Given the description of an element on the screen output the (x, y) to click on. 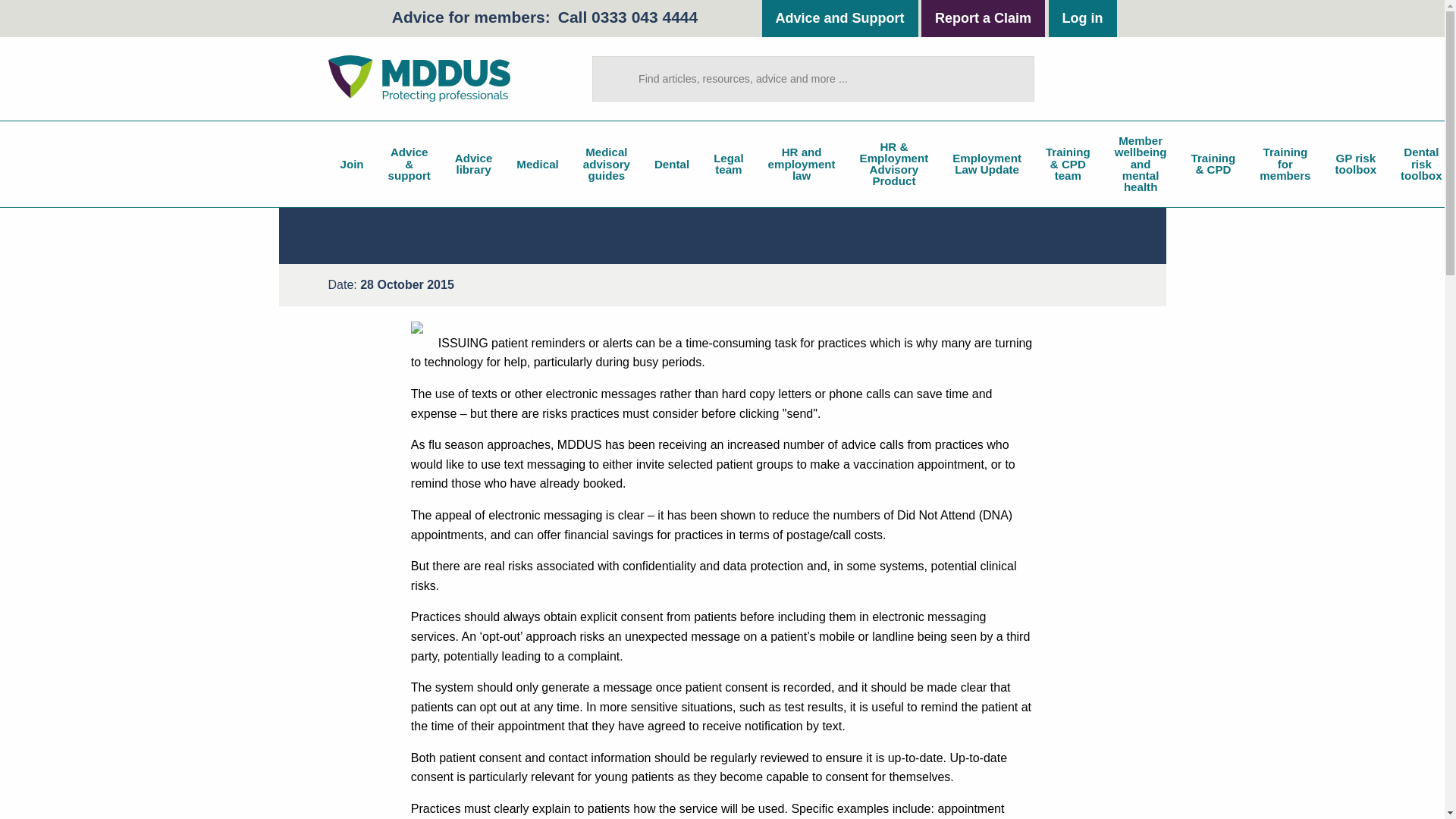
Advice for members:Call 0333 043 4444 (544, 17)
Member wellbeing and mental health (1140, 164)
Log in (1082, 18)
Search (1016, 78)
Advice and Support (839, 18)
Employment Law Update (986, 164)
HR and employment law (801, 164)
Search (1016, 78)
Home  (418, 78)
Report a Claim (983, 18)
